Given the description of an element on the screen output the (x, y) to click on. 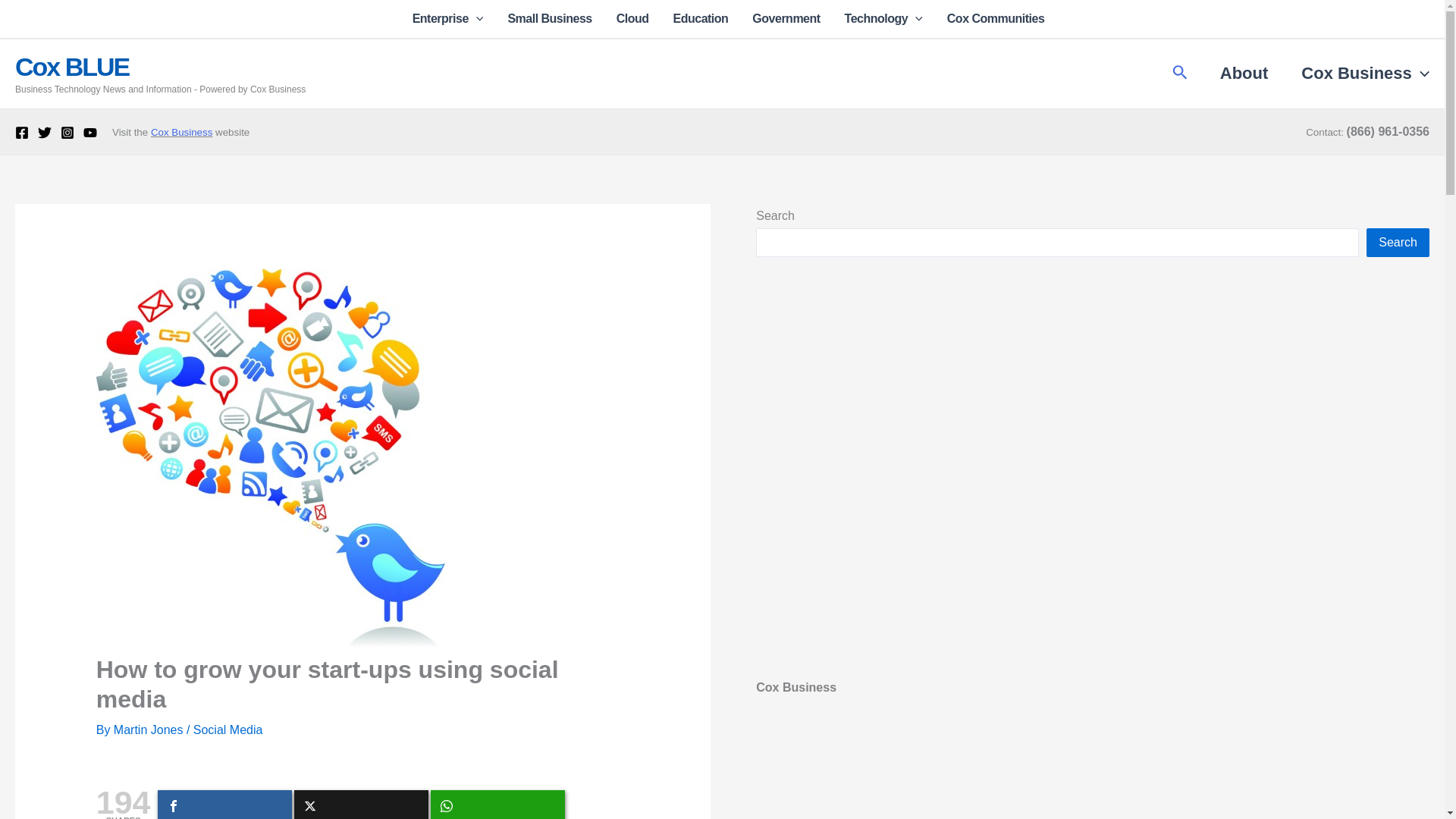
Government (785, 18)
Education (701, 18)
Small Business (549, 18)
Cox Communities (989, 18)
Cox BLUE (71, 66)
Technology (883, 18)
View all posts by Martin Jones (149, 729)
City of Parma Fire Department (1092, 776)
Cox Business (1356, 73)
